Given the description of an element on the screen output the (x, y) to click on. 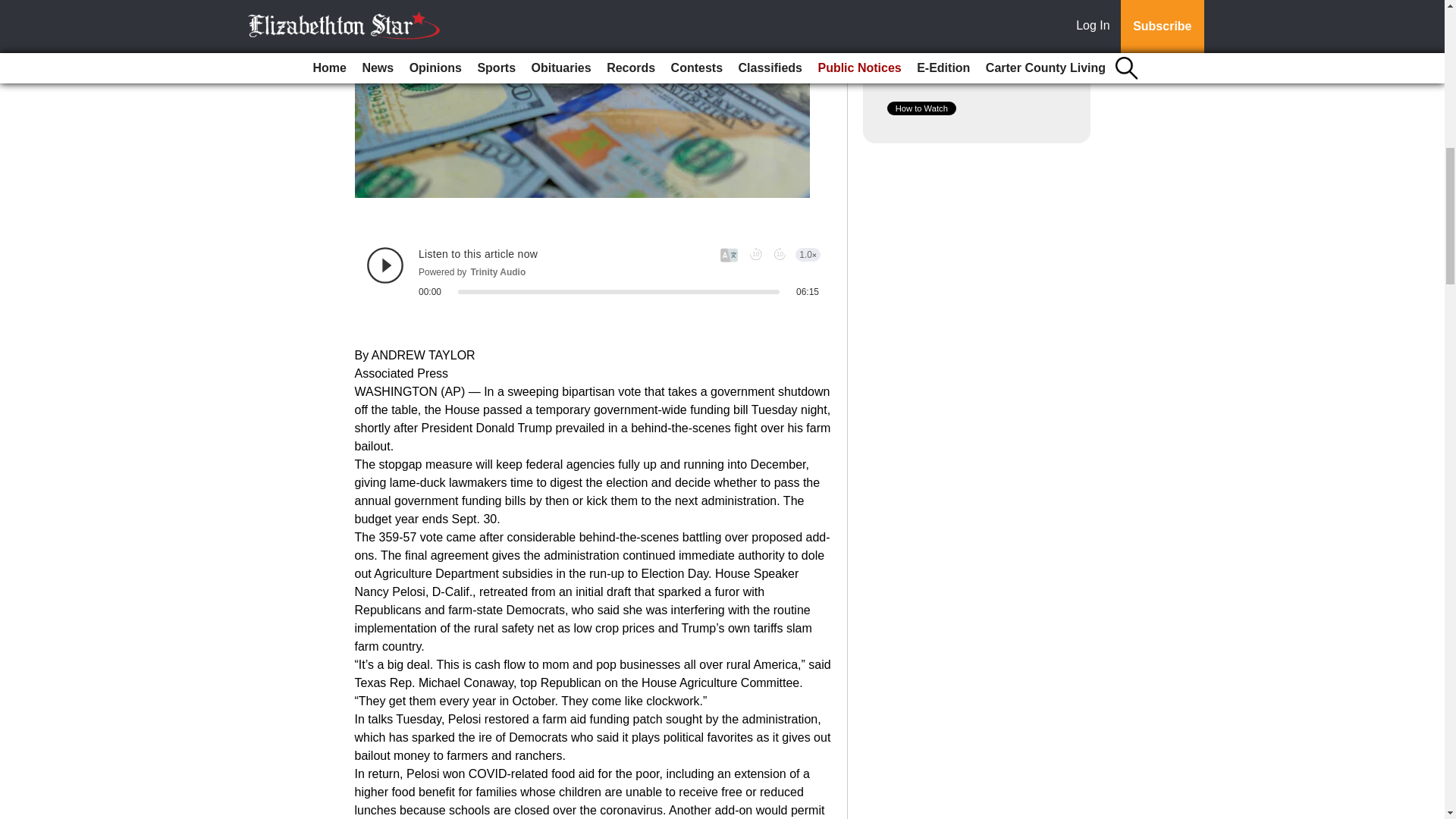
How to Watch (921, 108)
Trinity Audio Player (592, 271)
